Given the description of an element on the screen output the (x, y) to click on. 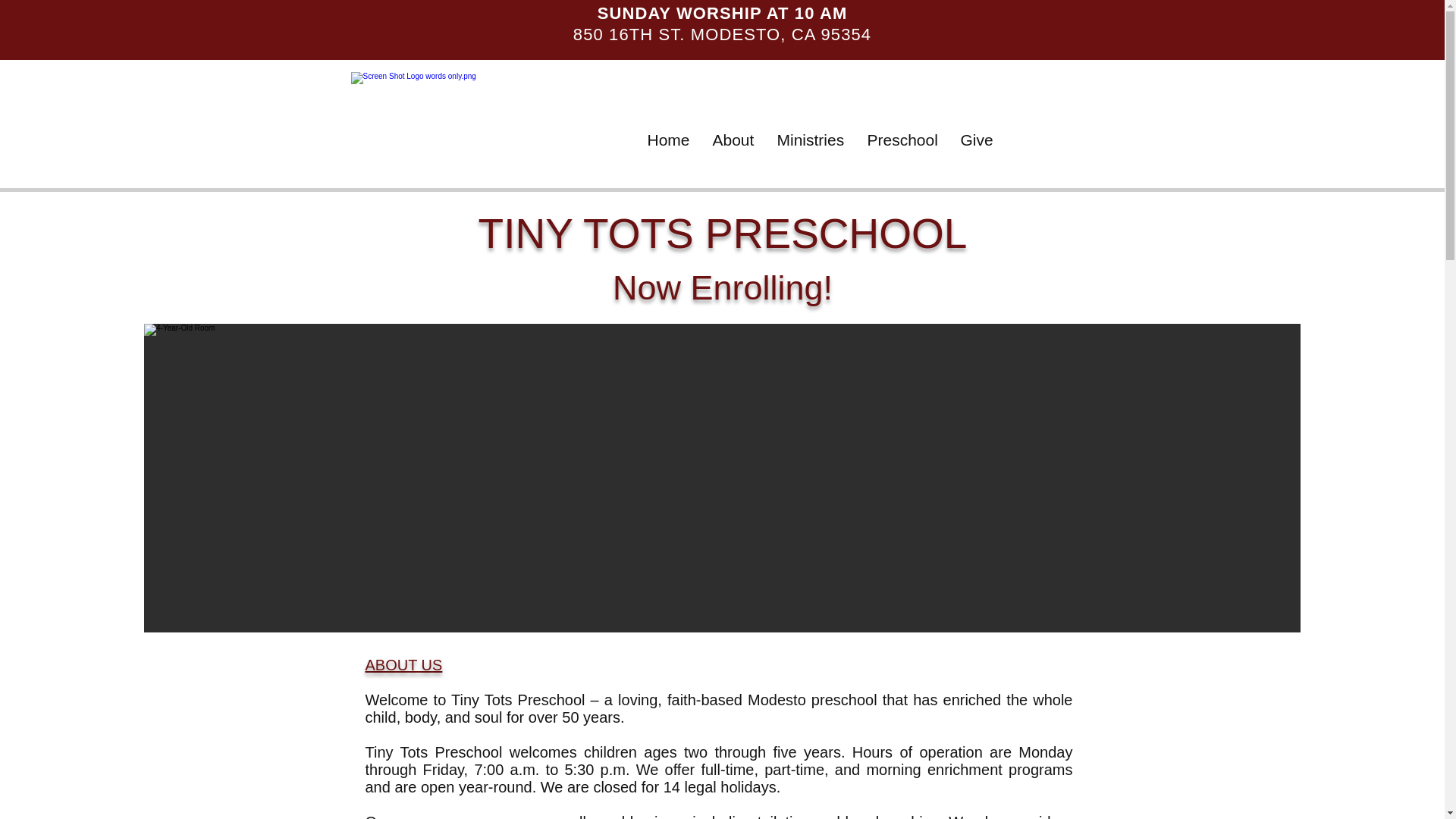
Ministries (810, 139)
Preschool (902, 139)
Home (667, 139)
